Given the description of an element on the screen output the (x, y) to click on. 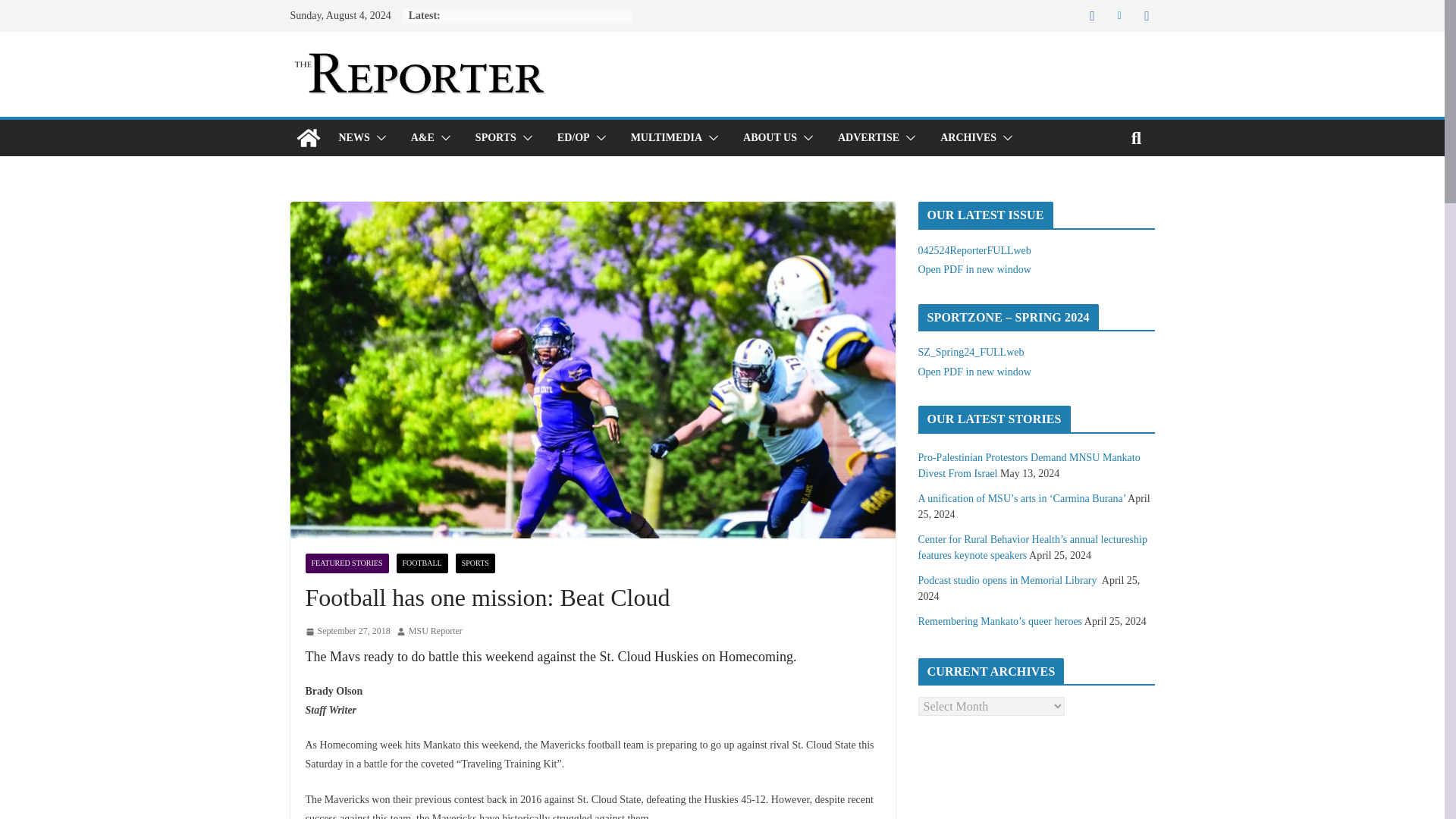
MULTIMEDIA (665, 137)
12:00 am (347, 631)
SPORTS (496, 137)
MSU Reporter (436, 631)
NEWS (353, 137)
